Given the description of an element on the screen output the (x, y) to click on. 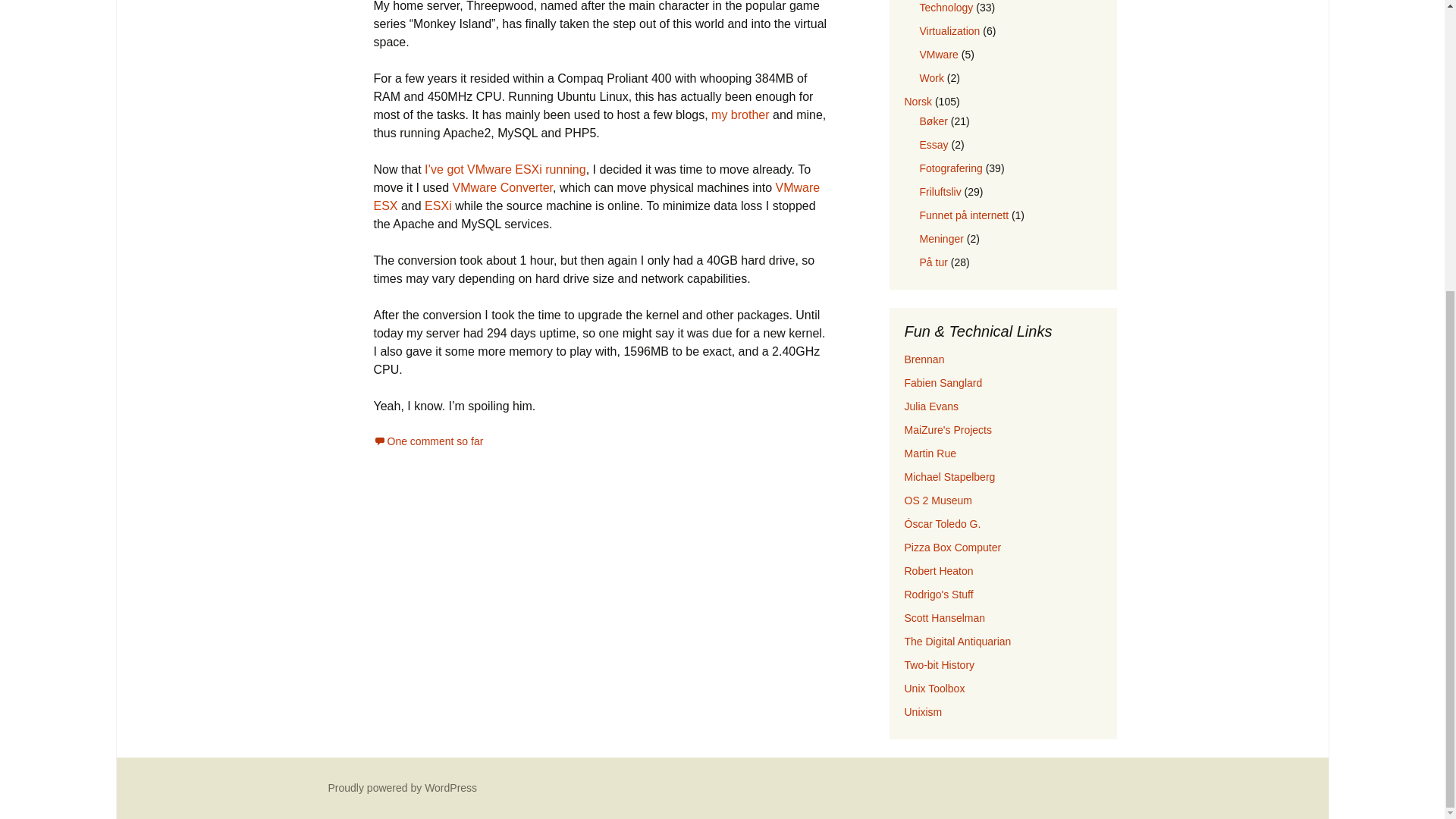
Technology (945, 7)
ESXi (438, 205)
One comment so far (427, 440)
Virtualization (948, 30)
VMware Converter (502, 187)
Norsk (917, 101)
VMware ESX (595, 196)
Work (930, 78)
VMware (938, 54)
